Given the description of an element on the screen output the (x, y) to click on. 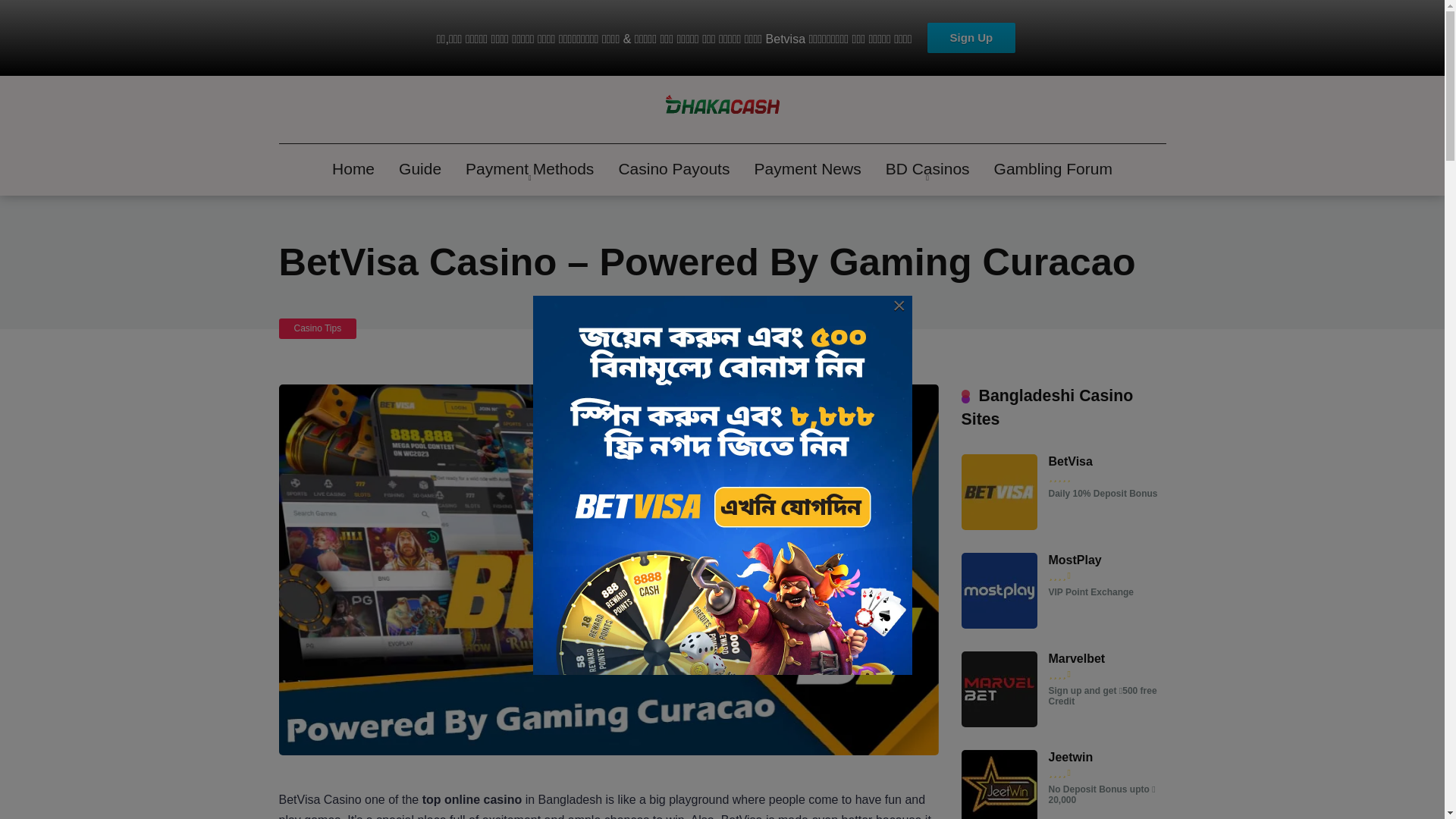
Casino Tips (317, 328)
Guide (419, 169)
Casino Payouts (673, 169)
Dhakacash (721, 110)
Payment News (806, 169)
Payment Methods (528, 169)
Home (353, 169)
BetVisa (998, 525)
Marvelbet (1076, 658)
BD Casinos (927, 169)
